Given the description of an element on the screen output the (x, y) to click on. 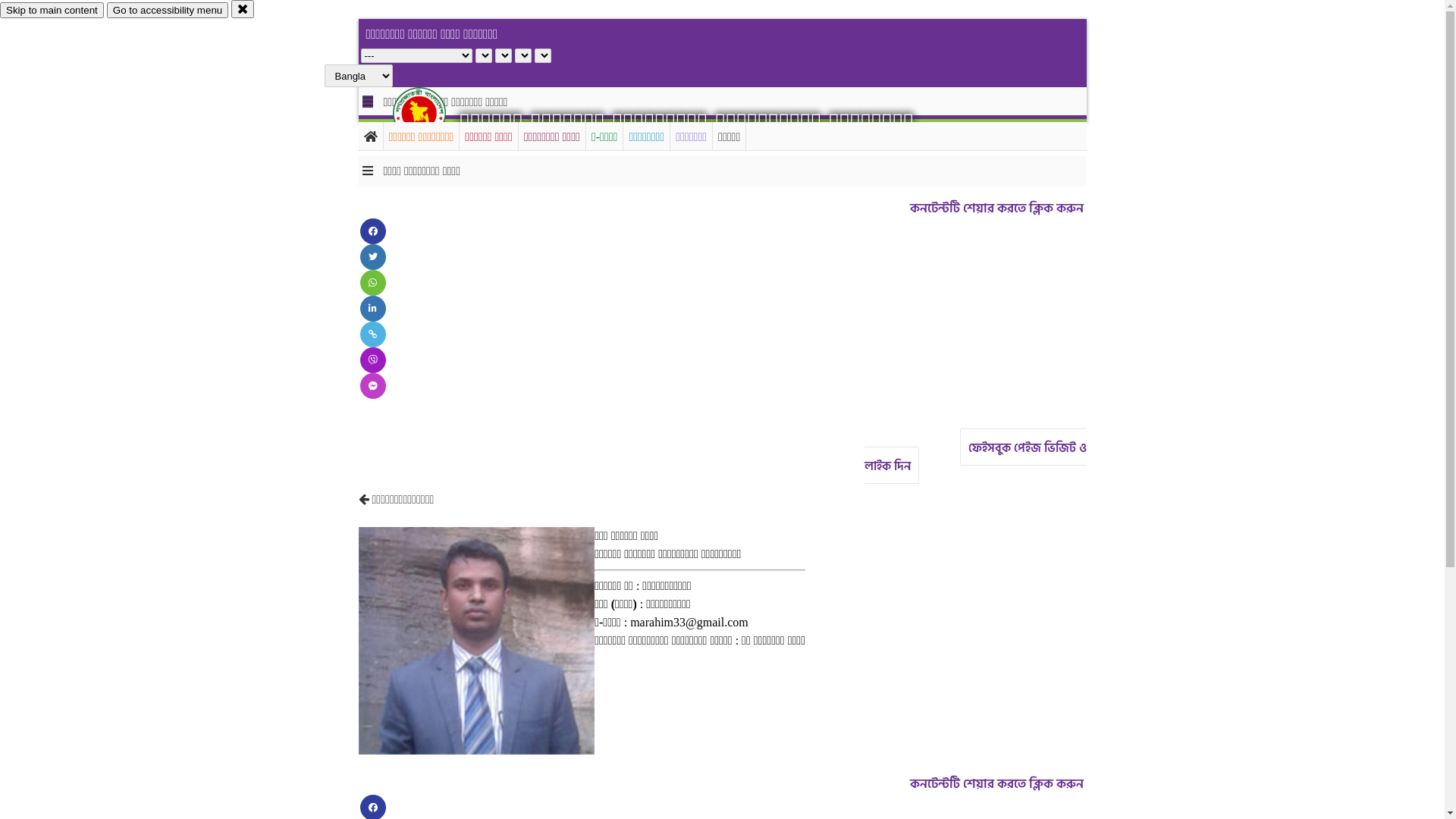

                
             Element type: hover (431, 112)
close Element type: hover (242, 9)
Go to accessibility menu Element type: text (167, 10)
Skip to main content Element type: text (51, 10)
